Given the description of an element on the screen output the (x, y) to click on. 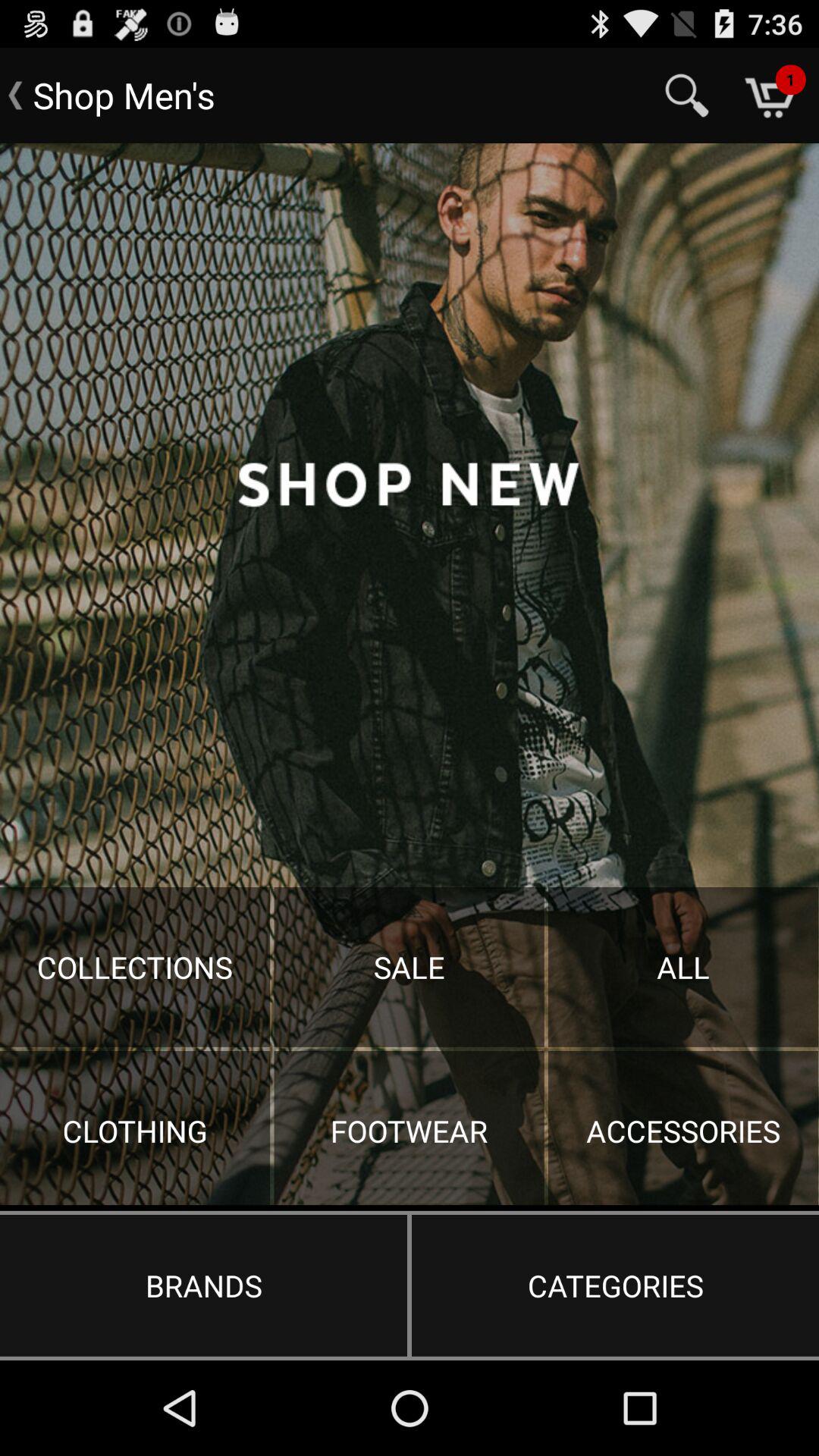
turn off the icon next to the shop men's app (686, 95)
